Given the description of an element on the screen output the (x, y) to click on. 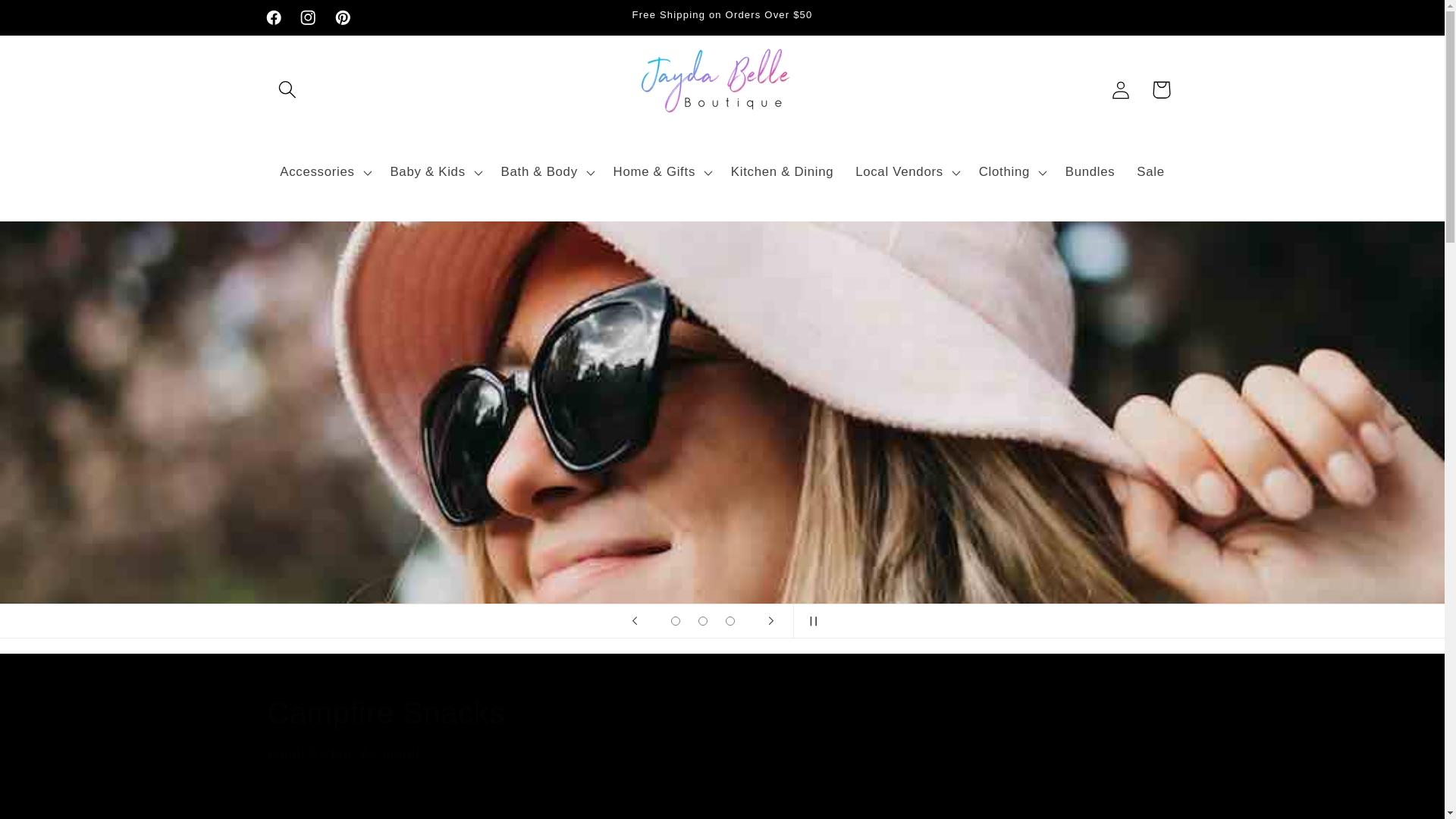
Instagram (308, 17)
Local Pickup Available! (721, 753)
Skip to content (55, 20)
Facebook (273, 17)
Campfire Snacks (721, 712)
Pinterest (341, 17)
